Given the description of an element on the screen output the (x, y) to click on. 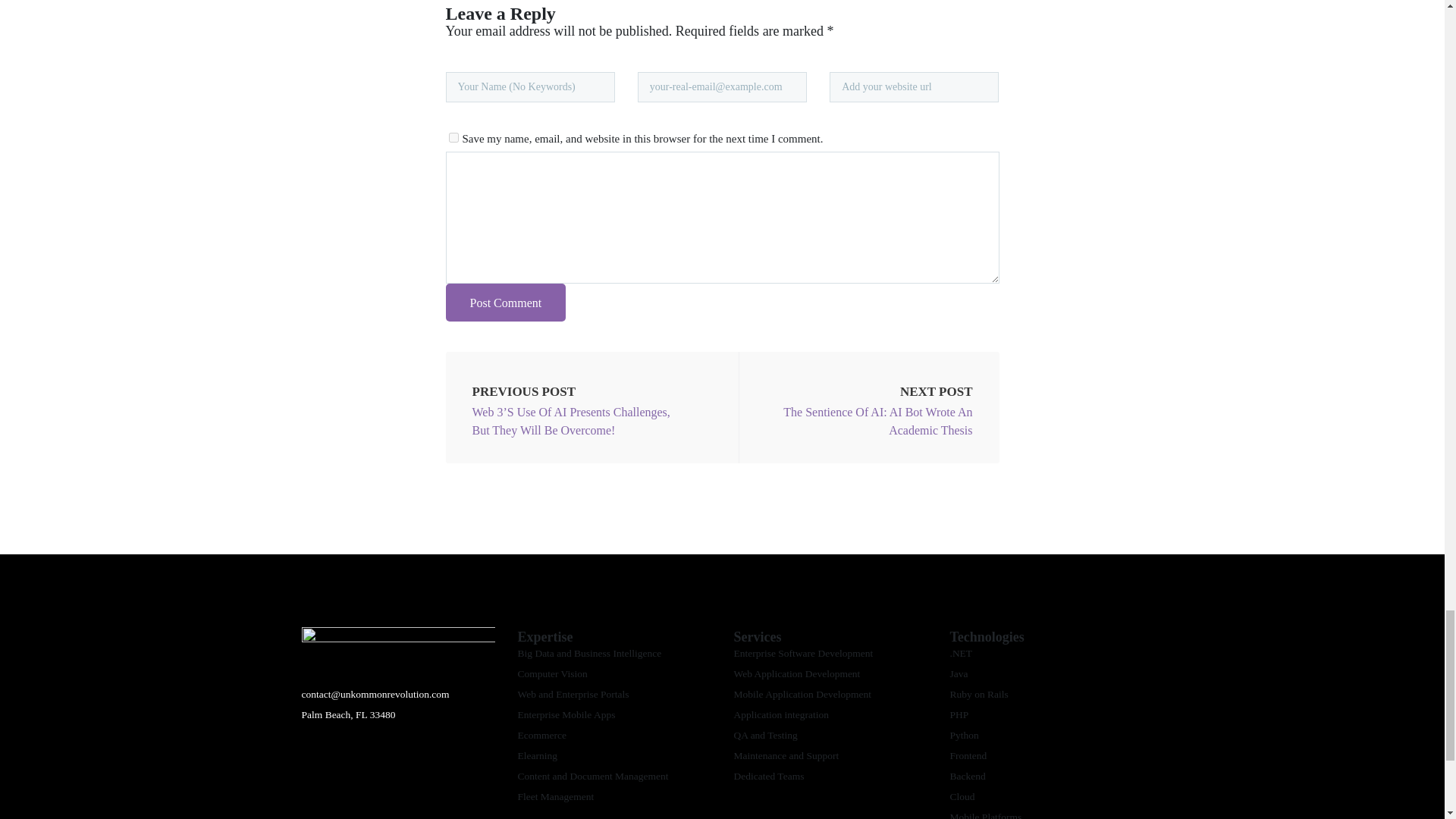
Post Comment (505, 302)
yes (454, 137)
Post Comment (505, 302)
The Sentience Of AI: AI Bot Wrote An Academic Thesis (866, 421)
